Given the description of an element on the screen output the (x, y) to click on. 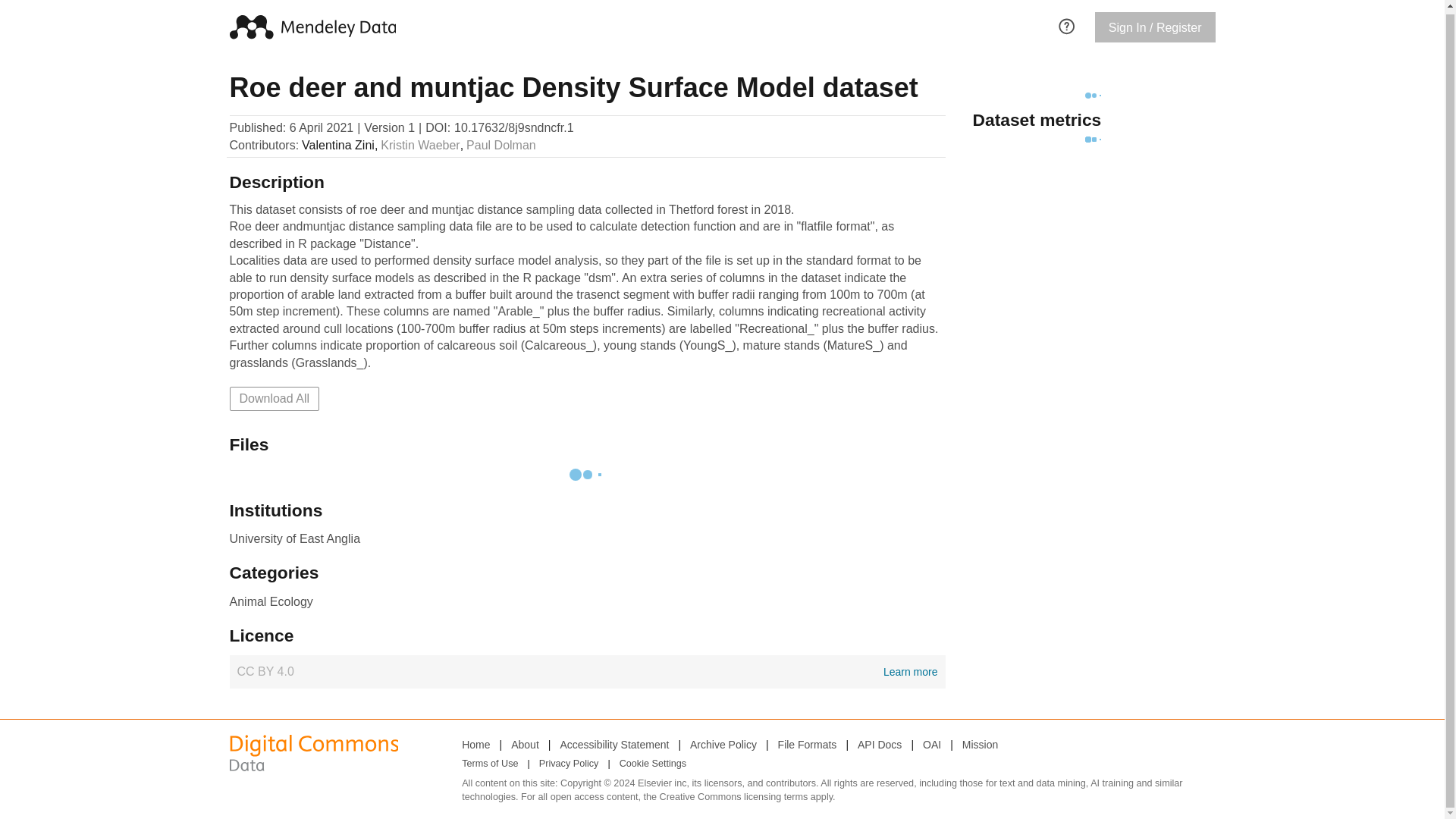
Accessibility Statement (586, 671)
OAI (613, 744)
Terms of Use (931, 744)
Download All (489, 763)
Privacy Policy (273, 398)
Mission (568, 763)
Archive Policy (979, 744)
Cookie Settings (723, 744)
File Formats (652, 763)
